Given the description of an element on the screen output the (x, y) to click on. 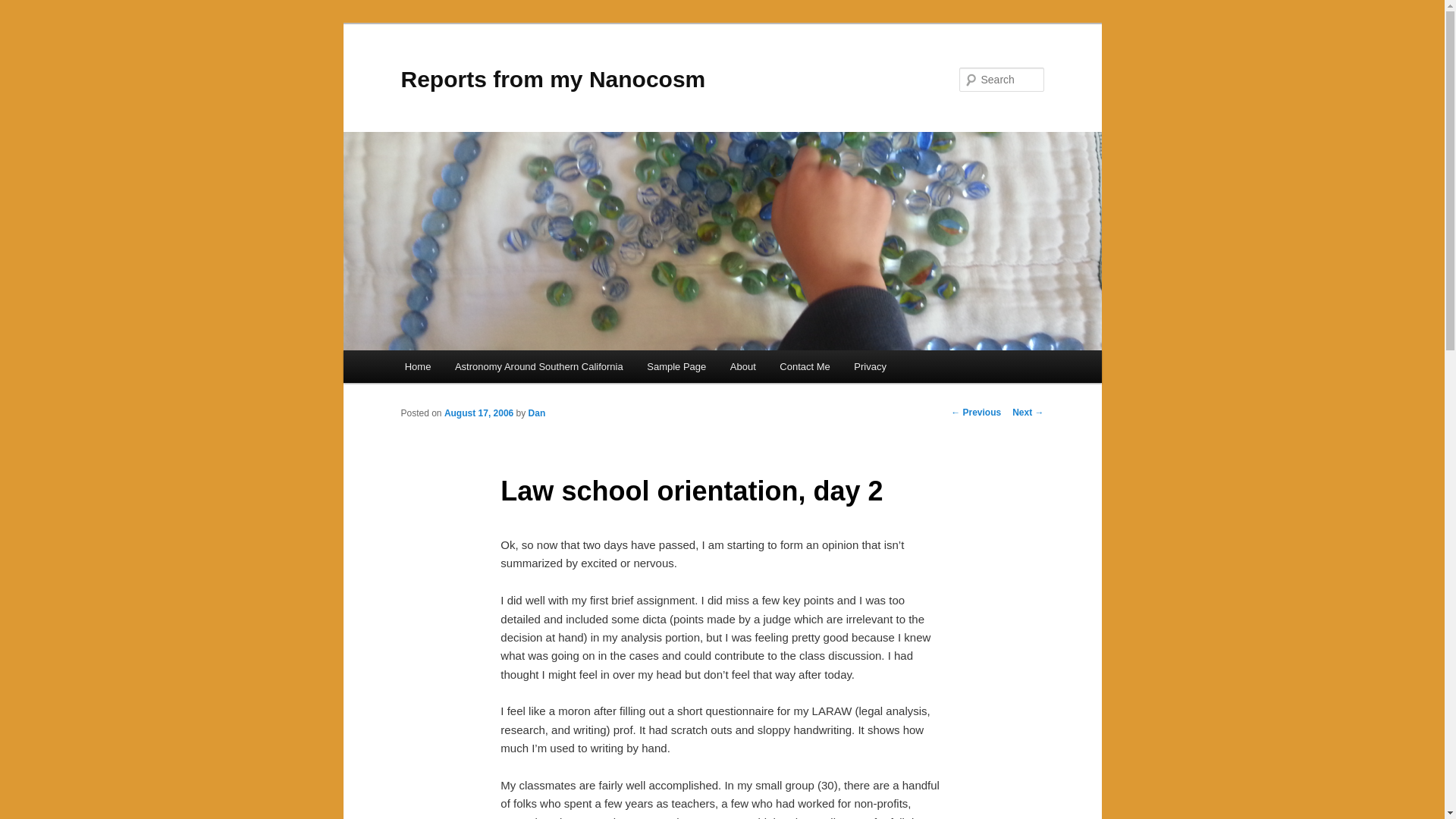
Dan (537, 412)
Search (24, 8)
Reports from my Nanocosm (552, 78)
7:53 pm (478, 412)
Sample Page (675, 366)
View all posts by Dan (537, 412)
Contact Me (805, 366)
August 17, 2006 (478, 412)
About (742, 366)
Privacy (870, 366)
Home (417, 366)
Astronomy Around Southern California (538, 366)
